Given the description of an element on the screen output the (x, y) to click on. 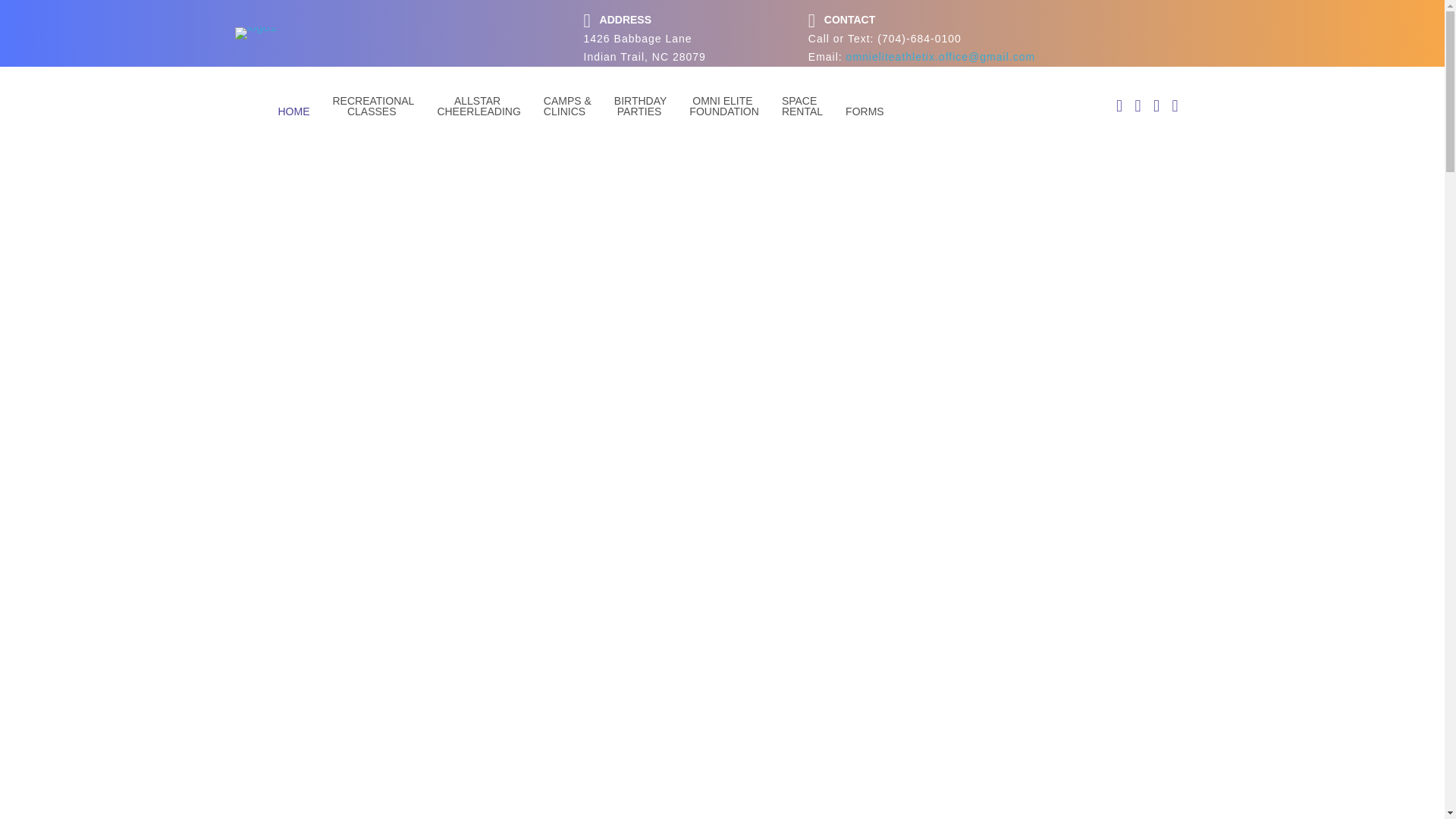
HOME (293, 111)
logo1 (255, 33)
FORMS (864, 111)
